Given the description of an element on the screen output the (x, y) to click on. 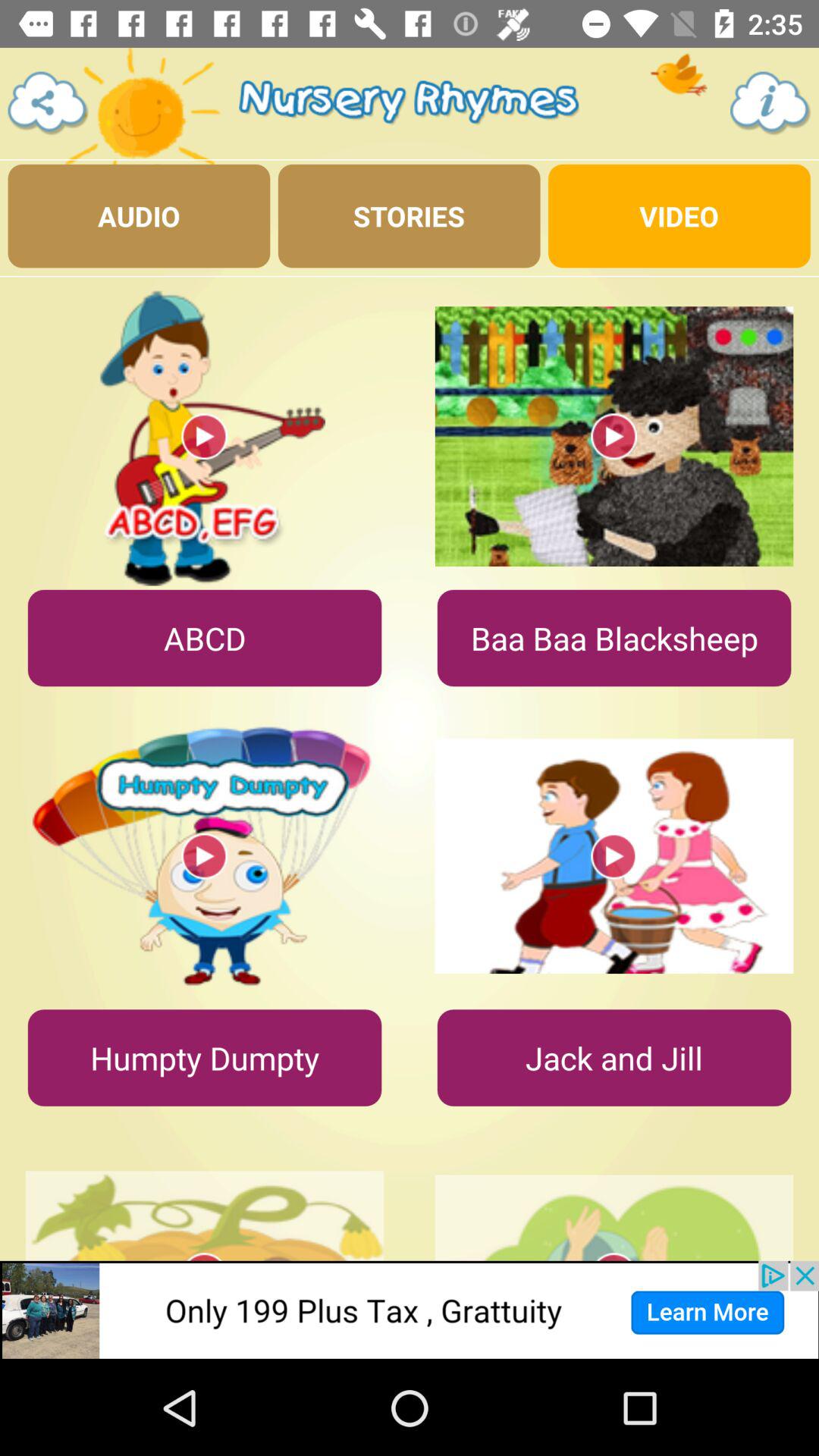
go back (47, 103)
